Given the description of an element on the screen output the (x, y) to click on. 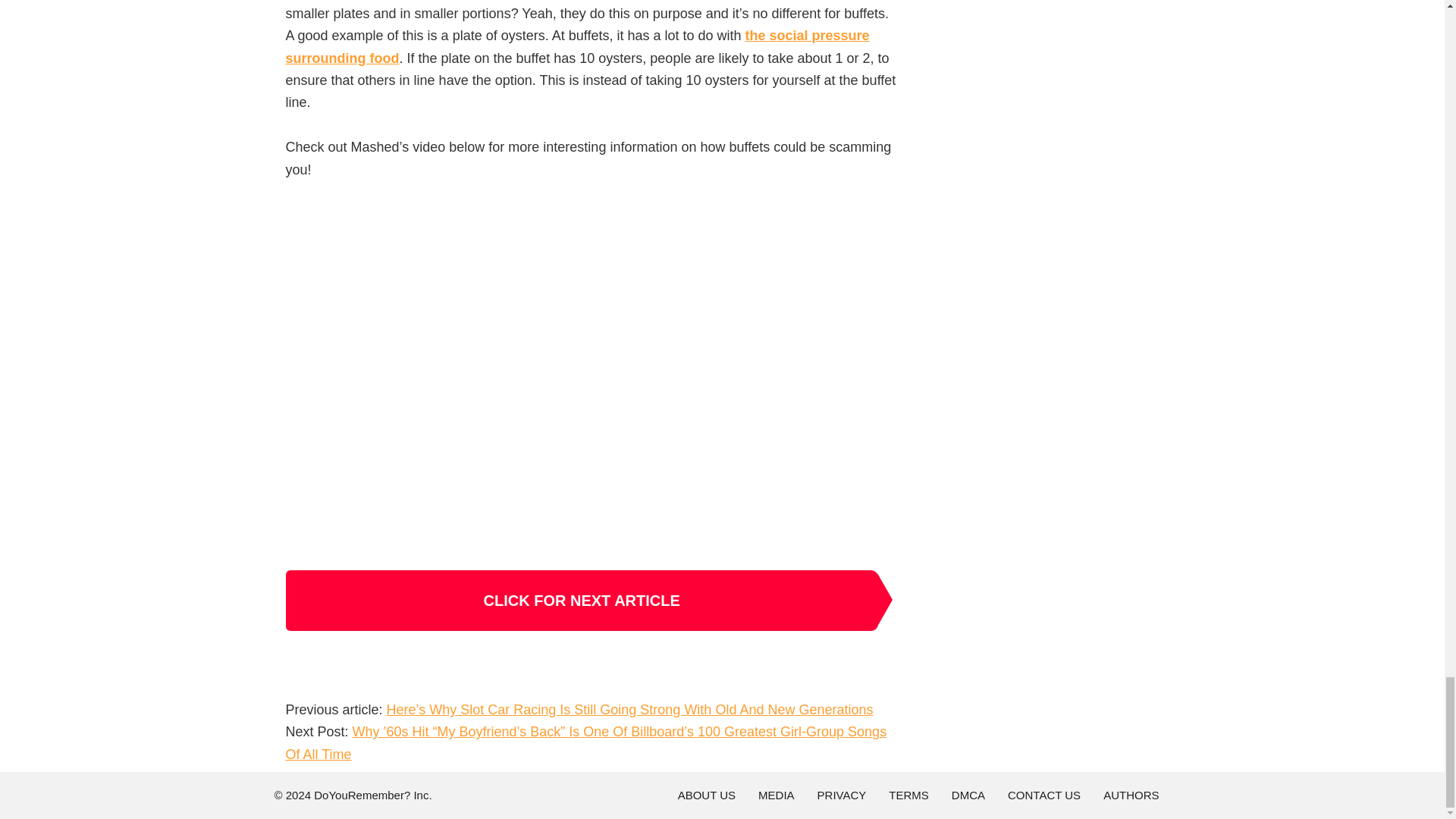
the social pressure surrounding food (577, 46)
